Given the description of an element on the screen output the (x, y) to click on. 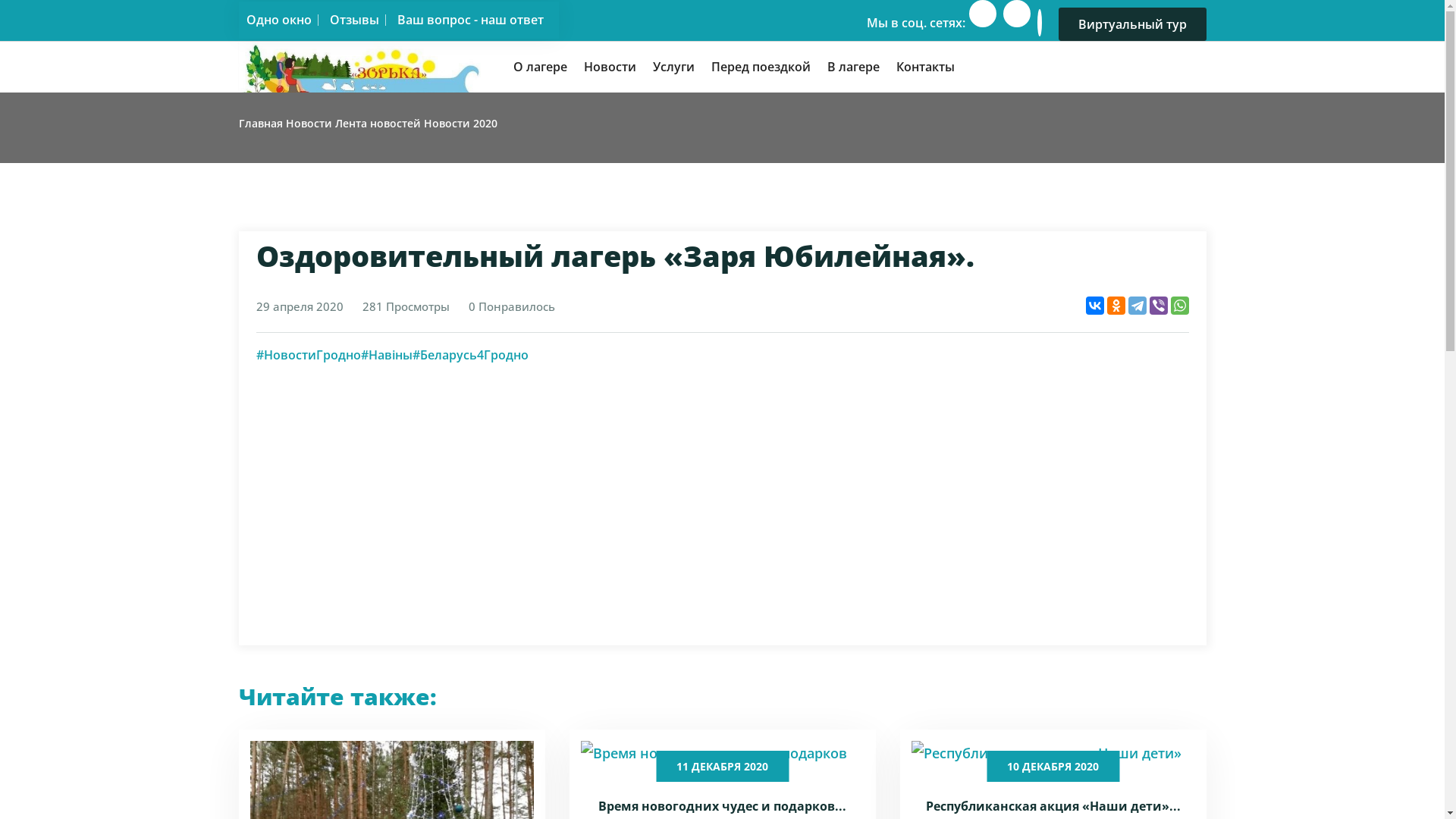
WhatsApp Element type: hover (1179, 305)
Viber Element type: hover (1158, 305)
Telegram Element type: hover (1137, 305)
